Given the description of an element on the screen output the (x, y) to click on. 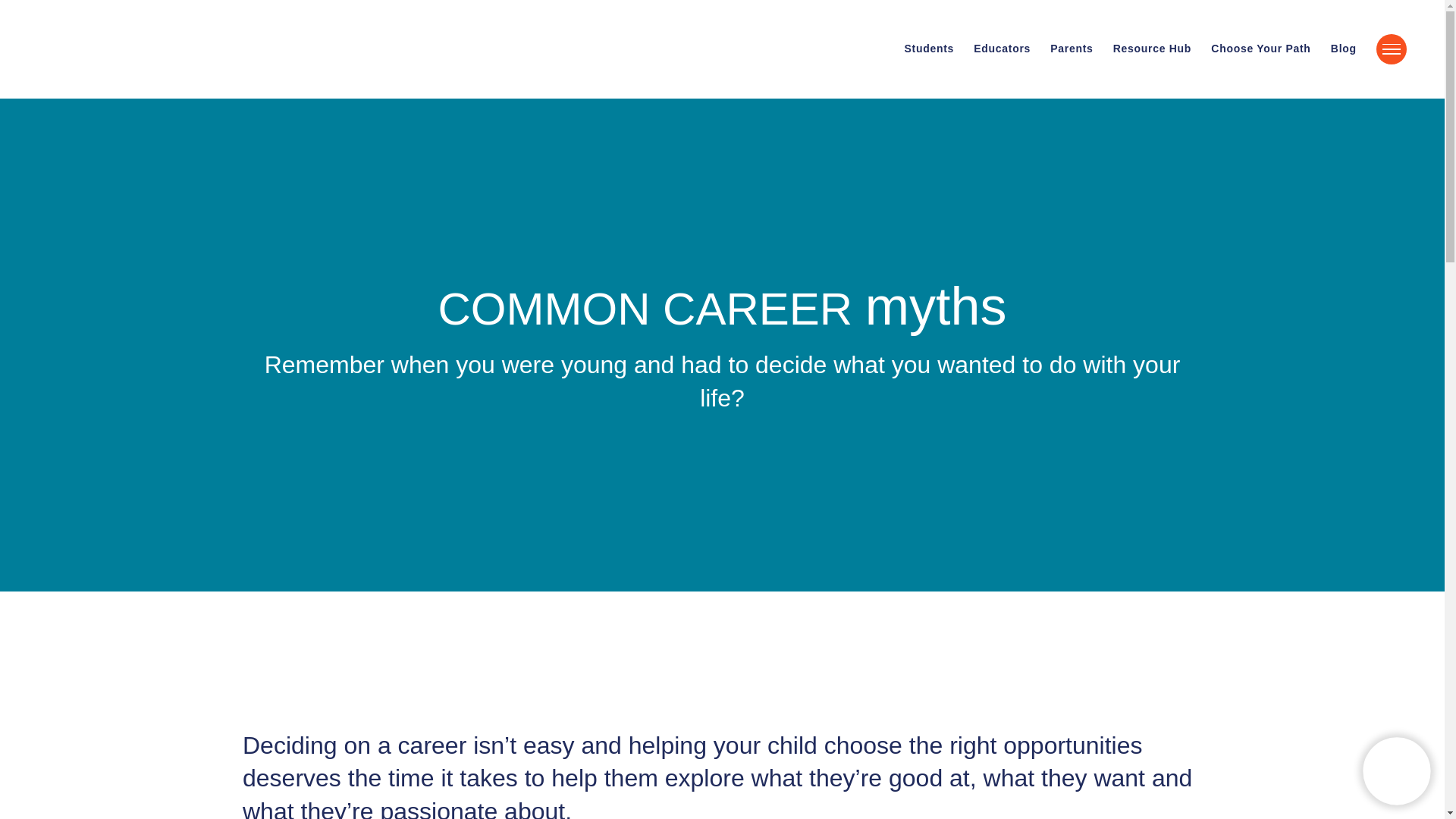
Educators (1002, 48)
Students (928, 48)
Choose Your Path (1260, 48)
Blog (1343, 48)
Parents (1071, 48)
Resource Hub (1152, 48)
